Given the description of an element on the screen output the (x, y) to click on. 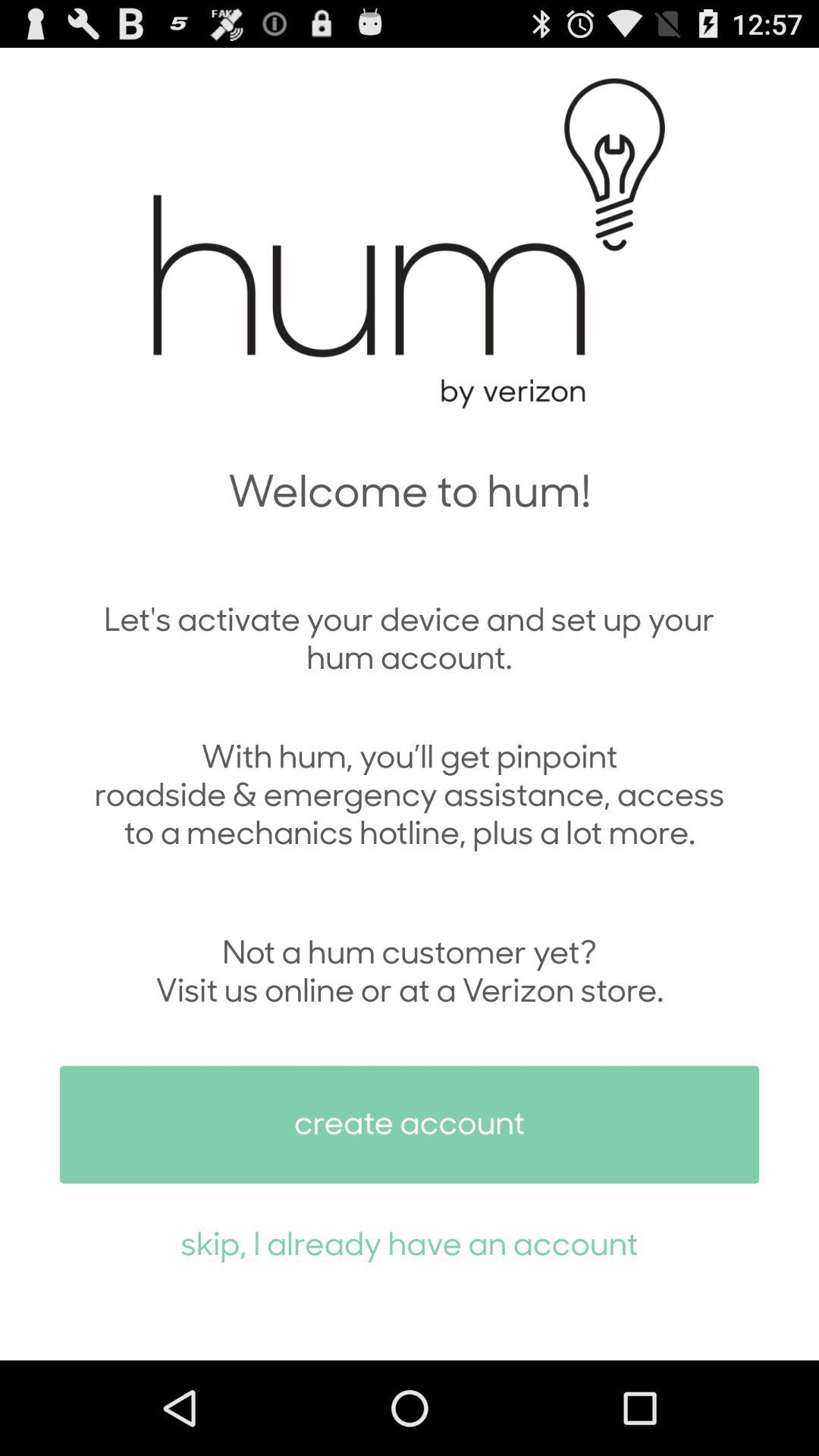
jump until the skip i already icon (409, 1242)
